Given the description of an element on the screen output the (x, y) to click on. 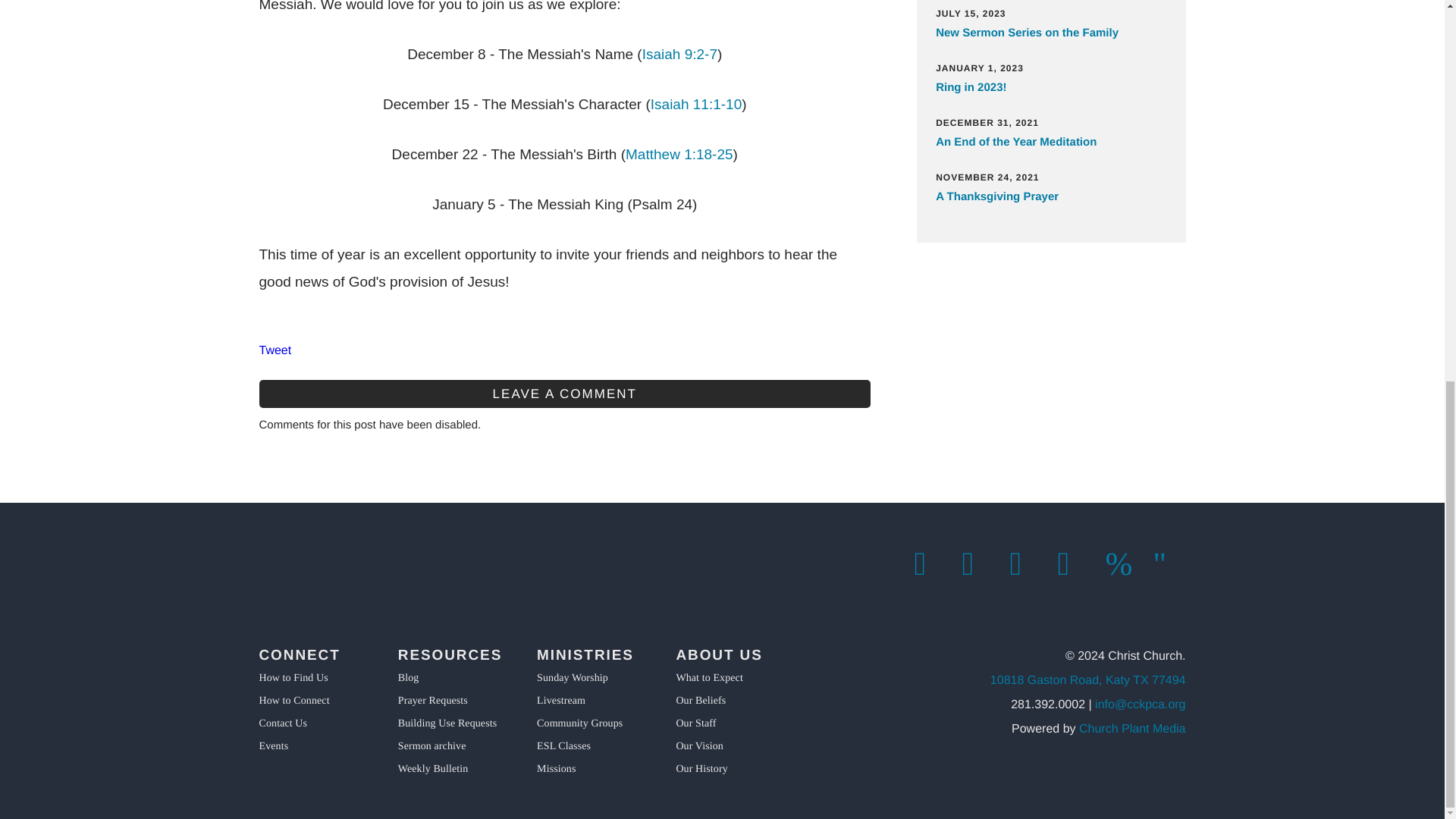
rss (1169, 563)
youtube (1121, 563)
vimeo (1073, 563)
facebook (930, 563)
twitter (977, 563)
instagram (1026, 563)
